Given the description of an element on the screen output the (x, y) to click on. 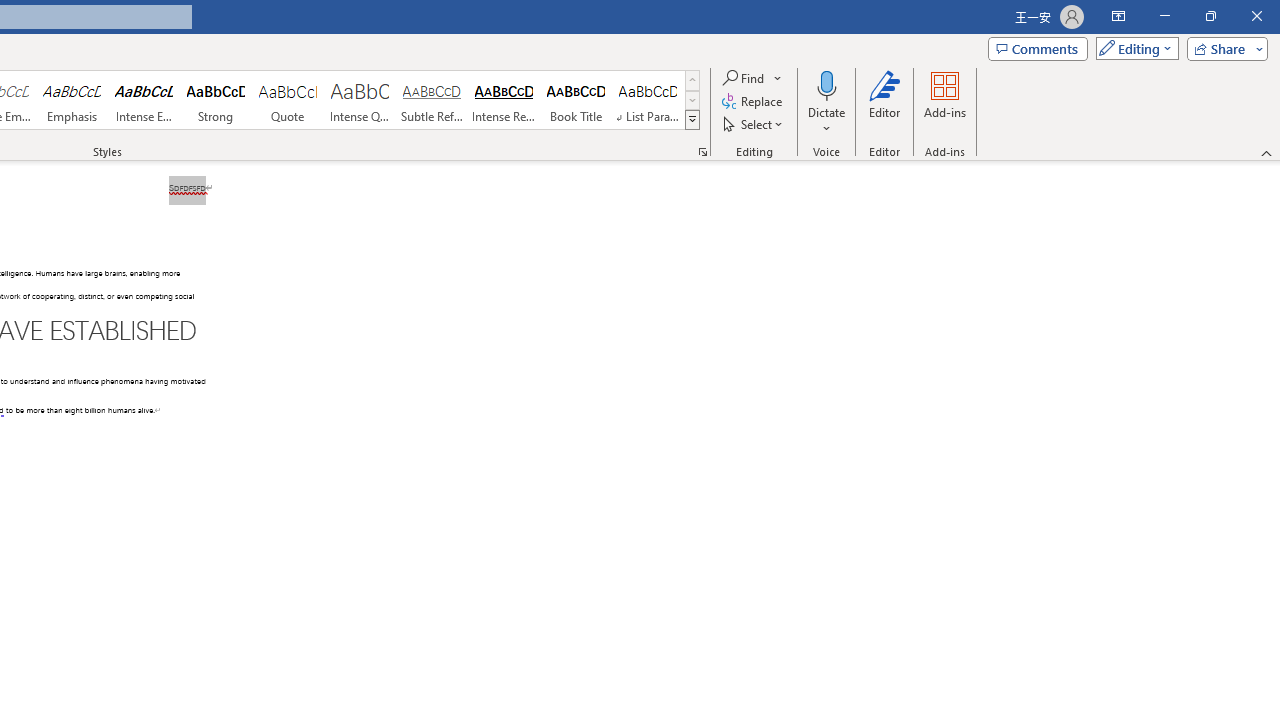
Styles (692, 120)
Class: NetUIImage (692, 119)
Mode (1133, 47)
Editor (885, 102)
Subtle Reference (431, 100)
Find (753, 78)
Row Down (692, 100)
Strong (216, 100)
Emphasis (71, 100)
Ribbon Display Options (1118, 16)
Book Title (575, 100)
Find (744, 78)
Quote (287, 100)
Comments (1038, 48)
